Given the description of an element on the screen output the (x, y) to click on. 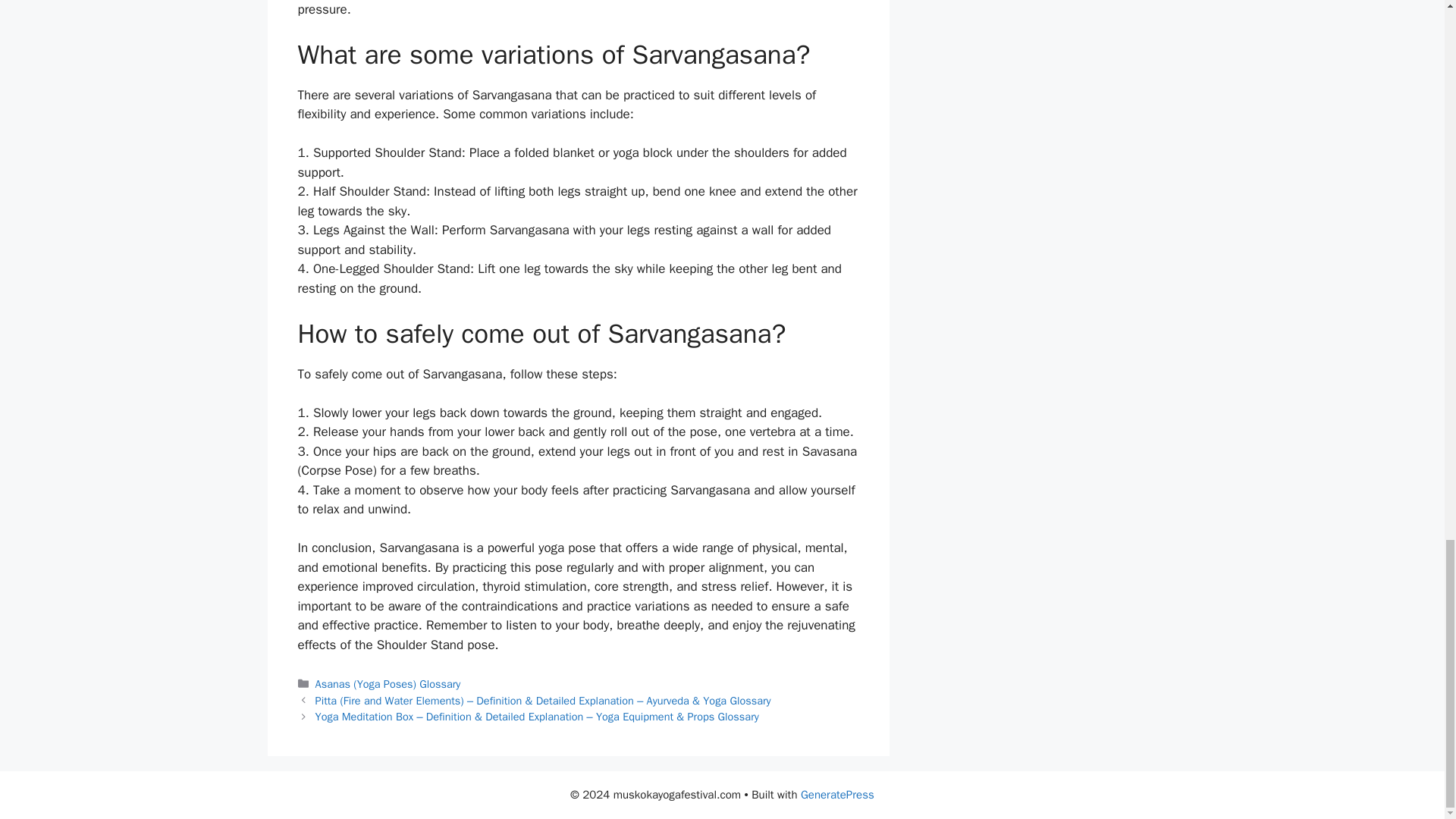
GeneratePress (837, 794)
